Given the description of an element on the screen output the (x, y) to click on. 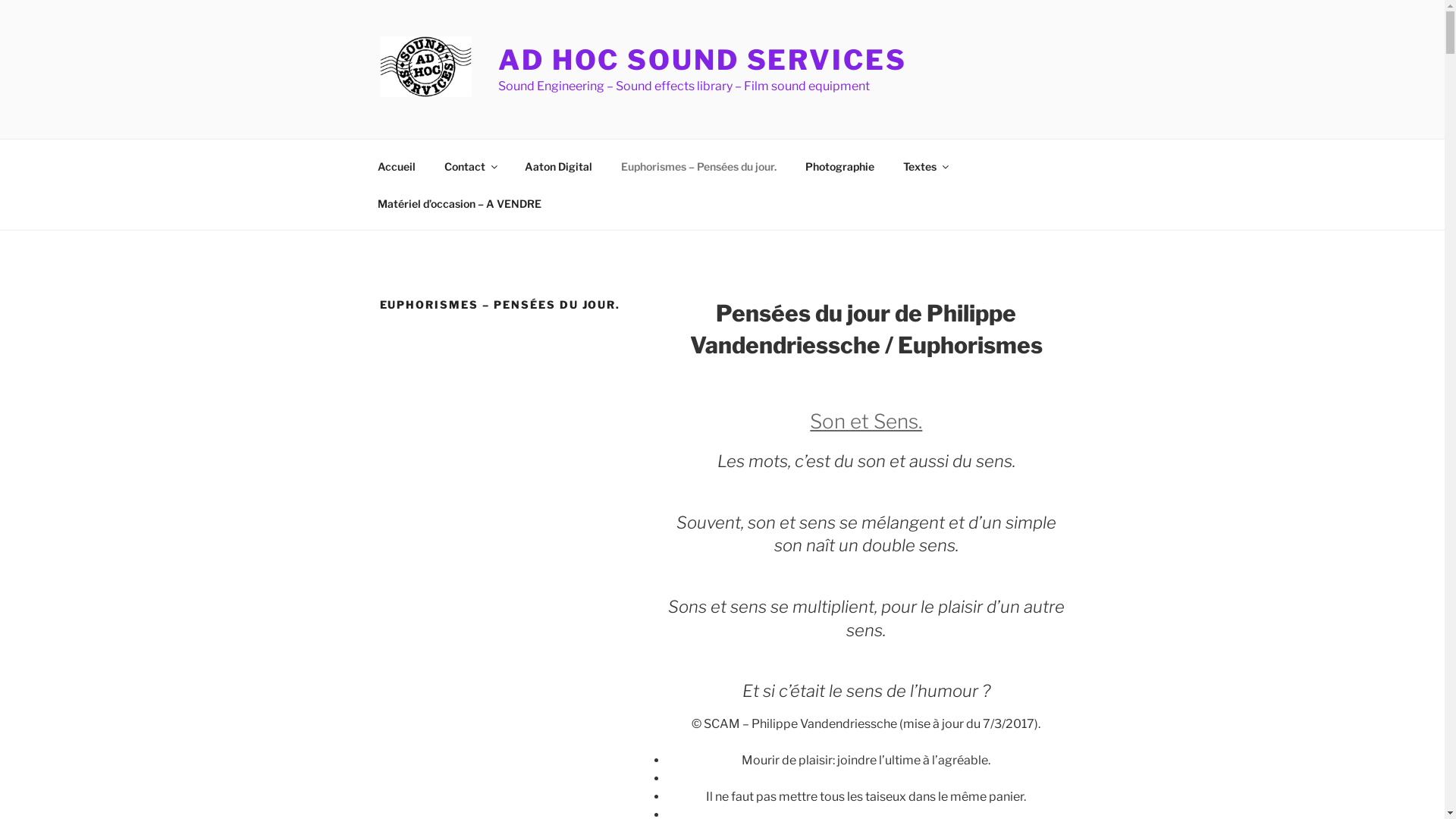
Accueil Element type: text (396, 165)
Photographie Element type: text (839, 165)
Textes Element type: text (925, 165)
Aaton Digital Element type: text (558, 165)
Contact Element type: text (469, 165)
AD HOC SOUND SERVICES Element type: text (702, 59)
